Given the description of an element on the screen output the (x, y) to click on. 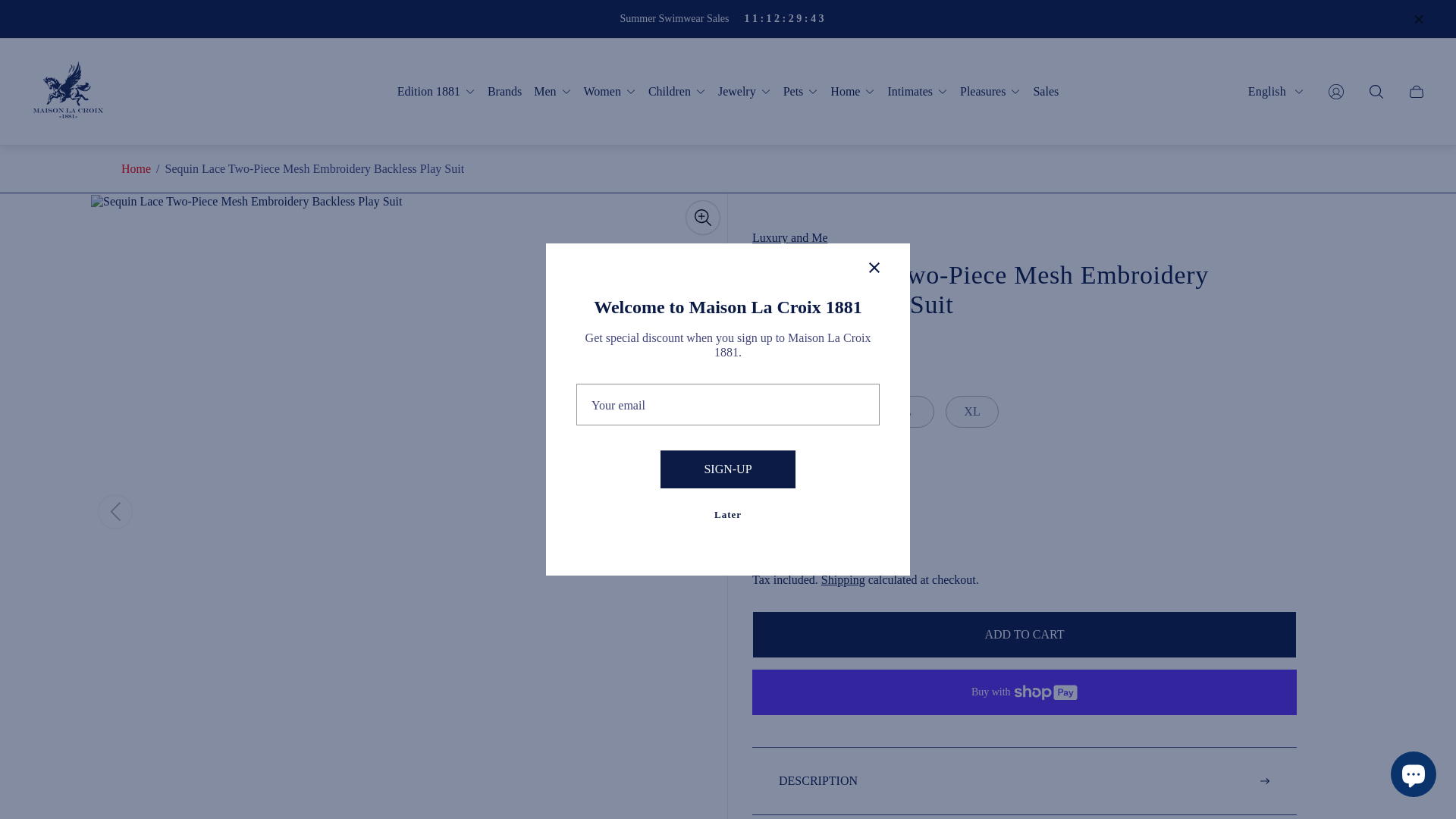
Men (551, 91)
1 (792, 490)
Brands (504, 91)
Edition 1881 (436, 91)
Home (135, 168)
